Given the description of an element on the screen output the (x, y) to click on. 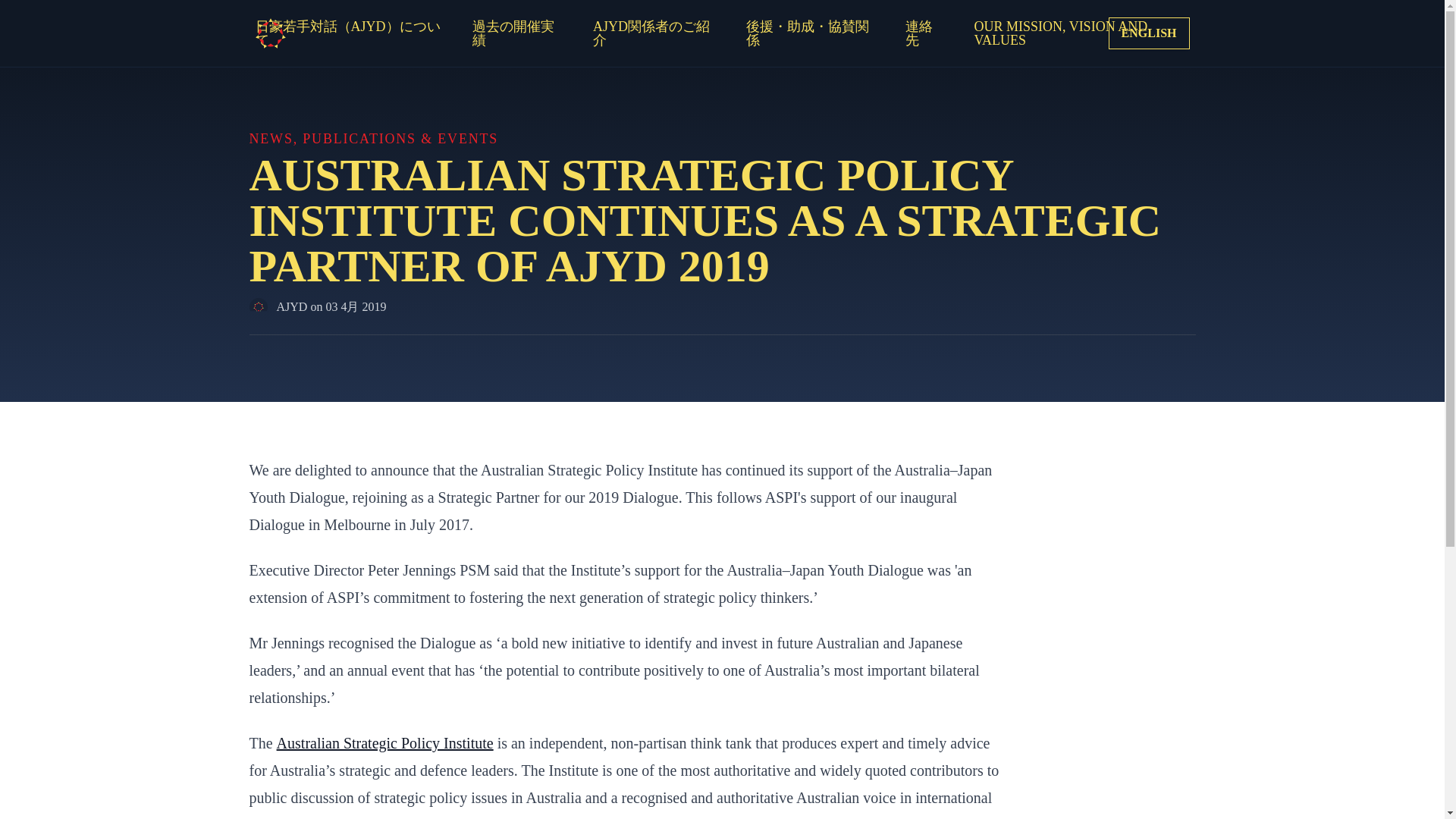
Australian Strategic Policy Institute (384, 742)
OUR MISSION, VISION AND VALUES (1081, 32)
Australia-Japan Youth Dialogue (269, 33)
ENGLISH (1148, 33)
